Given the description of an element on the screen output the (x, y) to click on. 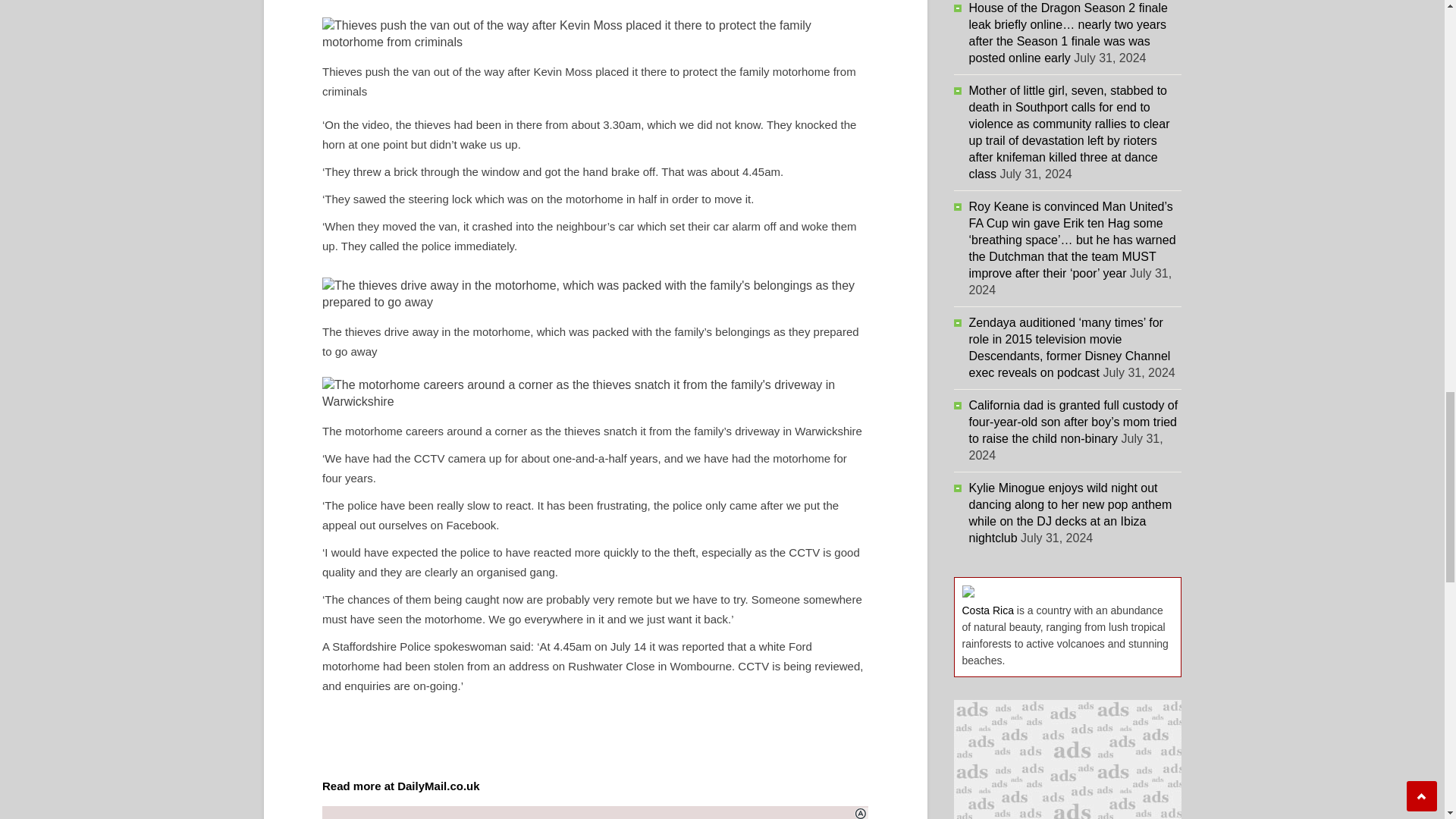
Costa Rica (986, 610)
Read more at DailyMail.co.uk (400, 785)
